Given the description of an element on the screen output the (x, y) to click on. 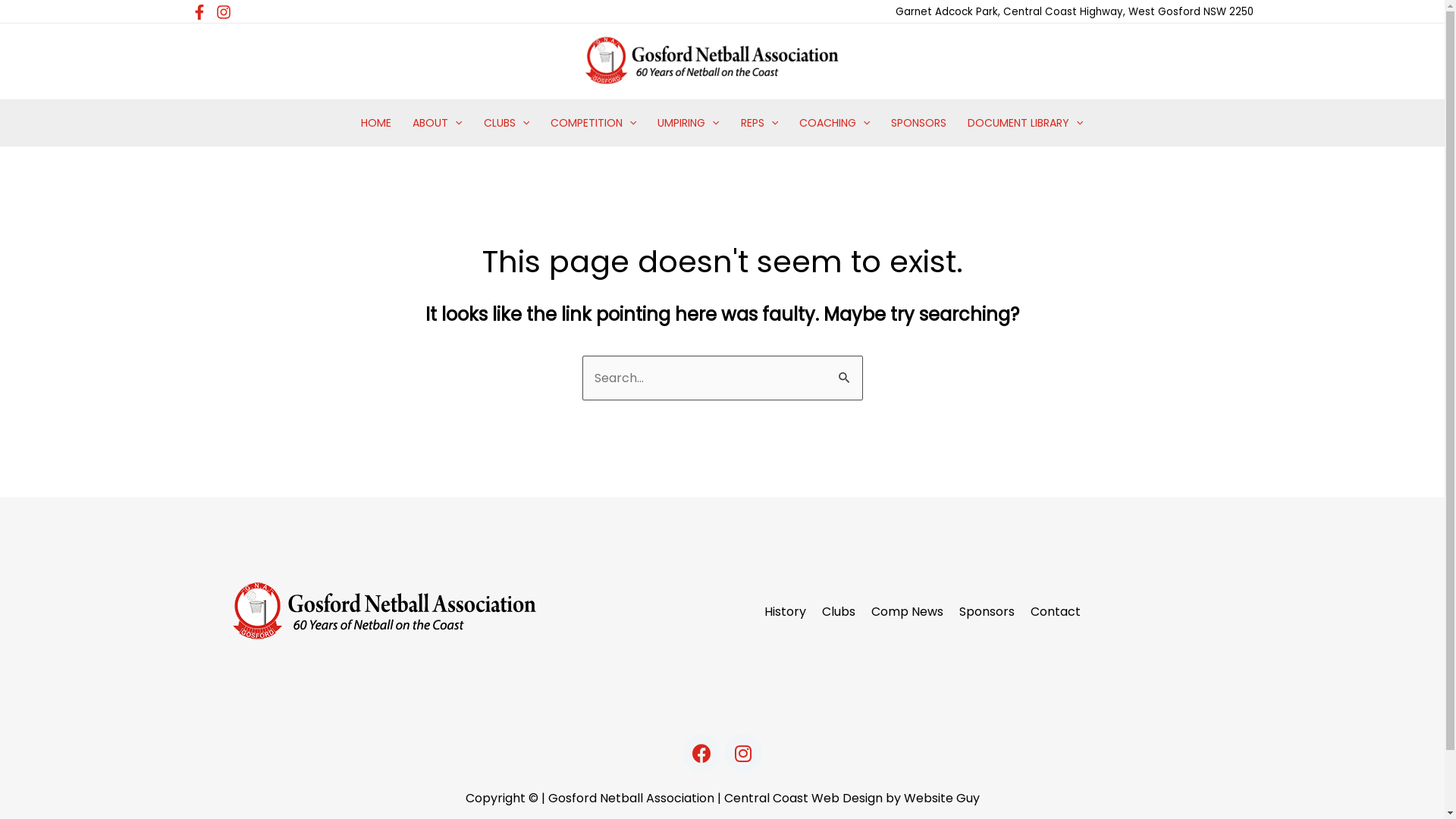
History Element type: text (783, 611)
Contact Element type: text (1053, 611)
COMPETITION Element type: text (592, 122)
Comp News Element type: text (905, 611)
Instagram Element type: text (743, 752)
UMPIRING Element type: text (687, 122)
DOCUMENT LIBRARY Element type: text (1025, 122)
COACHING Element type: text (834, 122)
Facebook Element type: text (701, 752)
ABOUT Element type: text (436, 122)
SPONSORS Element type: text (918, 122)
REPS Element type: text (759, 122)
Clubs Element type: text (836, 611)
Search Element type: text (845, 371)
HOME Element type: text (375, 122)
CLUBS Element type: text (506, 122)
Sponsors Element type: text (984, 611)
